Given the description of an element on the screen output the (x, y) to click on. 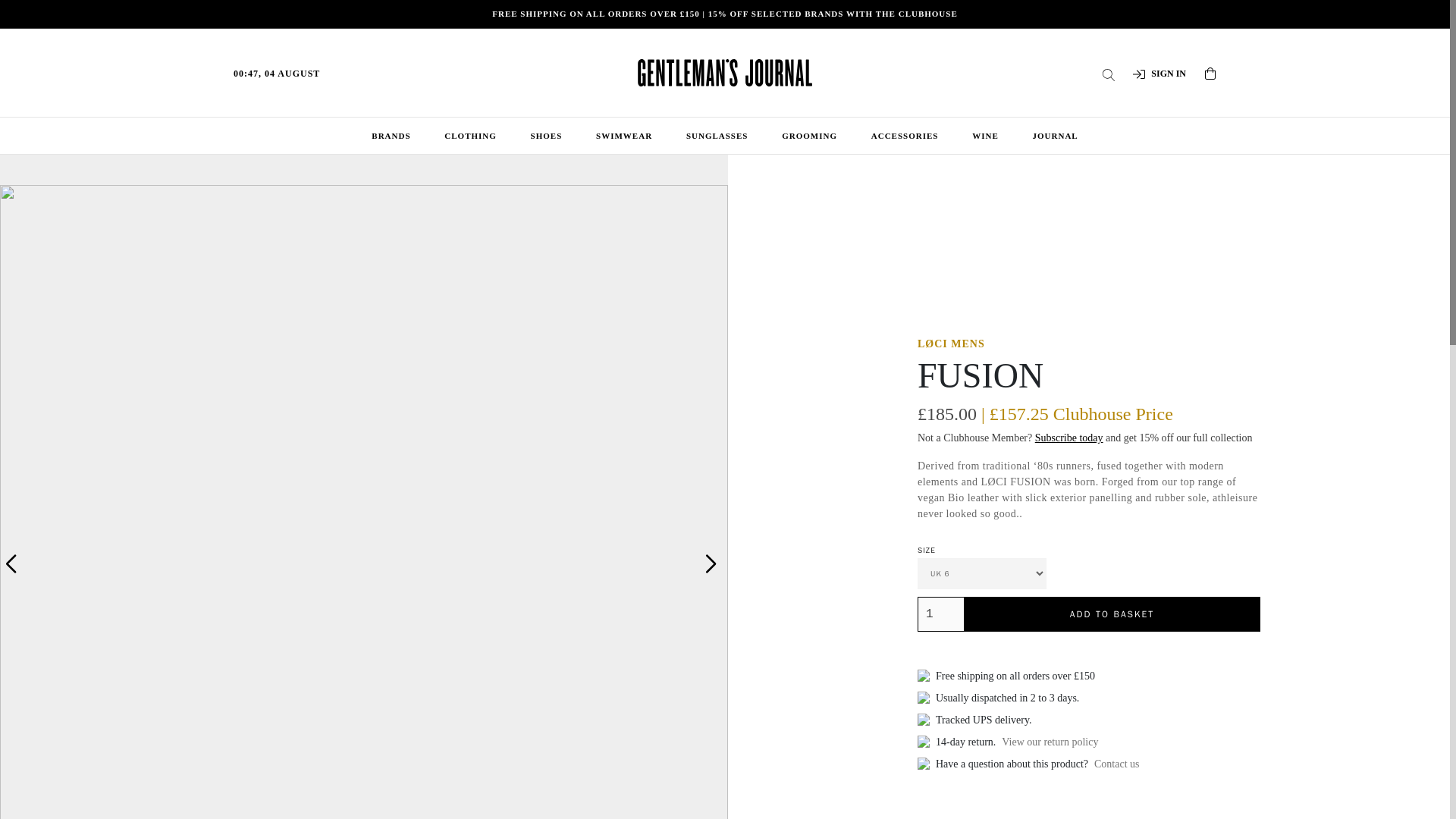
BRANDS (390, 135)
SIGN IN (1159, 72)
CLOTHING (470, 135)
1 (940, 614)
